Given the description of an element on the screen output the (x, y) to click on. 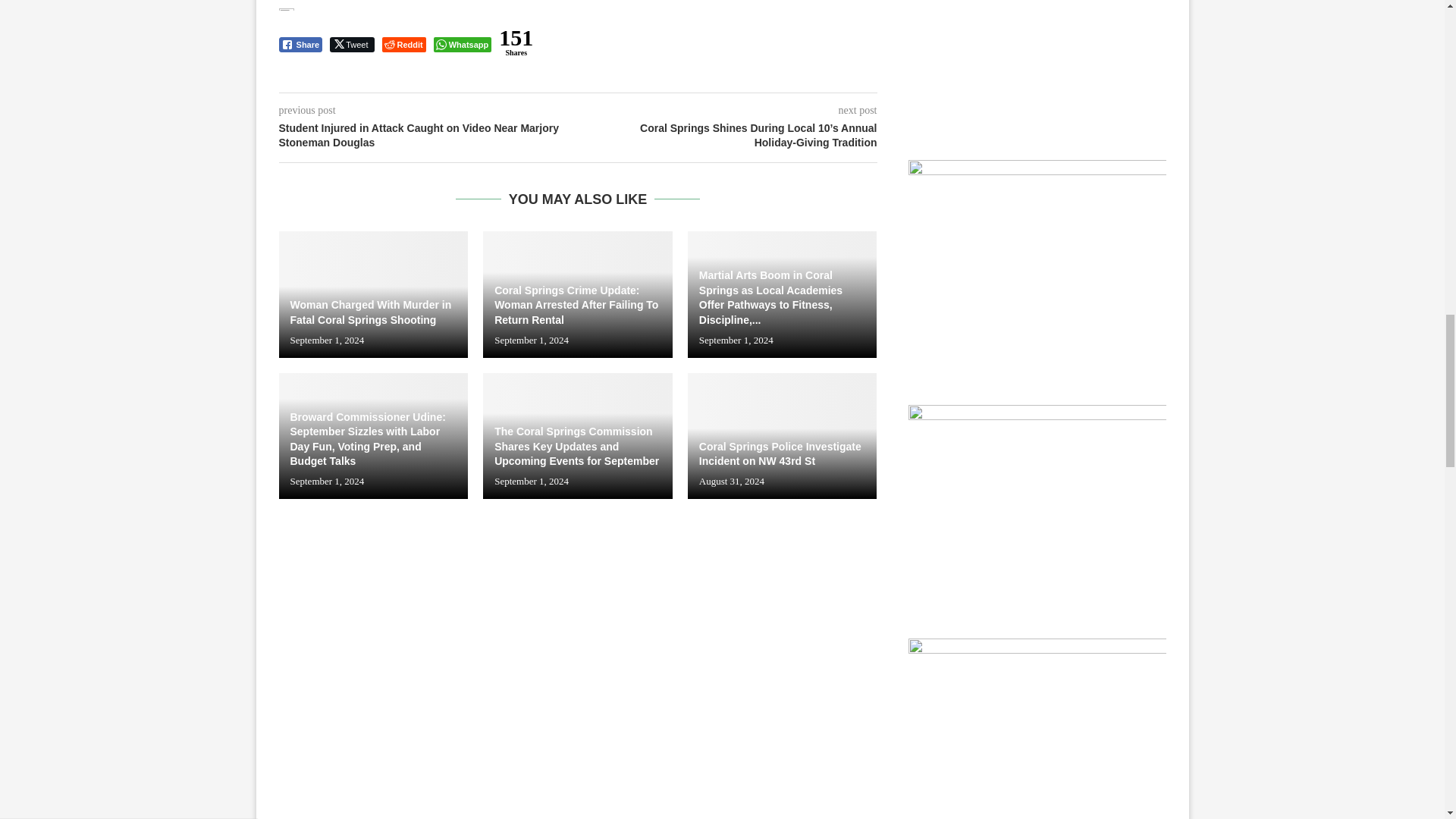
Woman Charged With Murder in Fatal Coral Springs Shooting (373, 293)
